Given the description of an element on the screen output the (x, y) to click on. 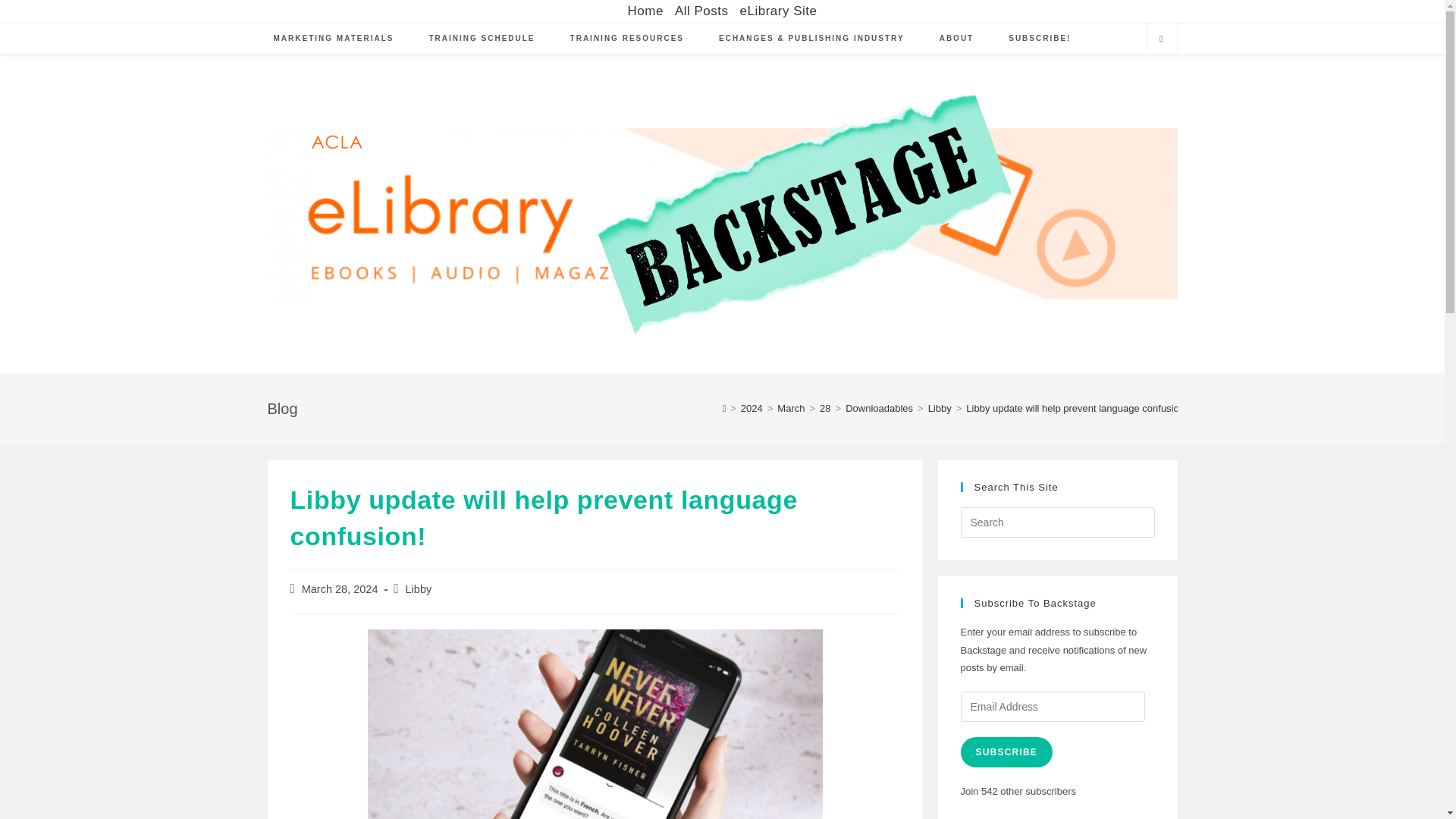
TRAINING RESOURCES (627, 38)
28 (824, 408)
Home (645, 10)
MARKETING MATERIALS (334, 38)
2024 (751, 408)
SUBSCRIBE! (1039, 38)
TRAINING SCHEDULE (480, 38)
eLibrary Site (777, 10)
March (791, 408)
ABOUT (956, 38)
